Given the description of an element on the screen output the (x, y) to click on. 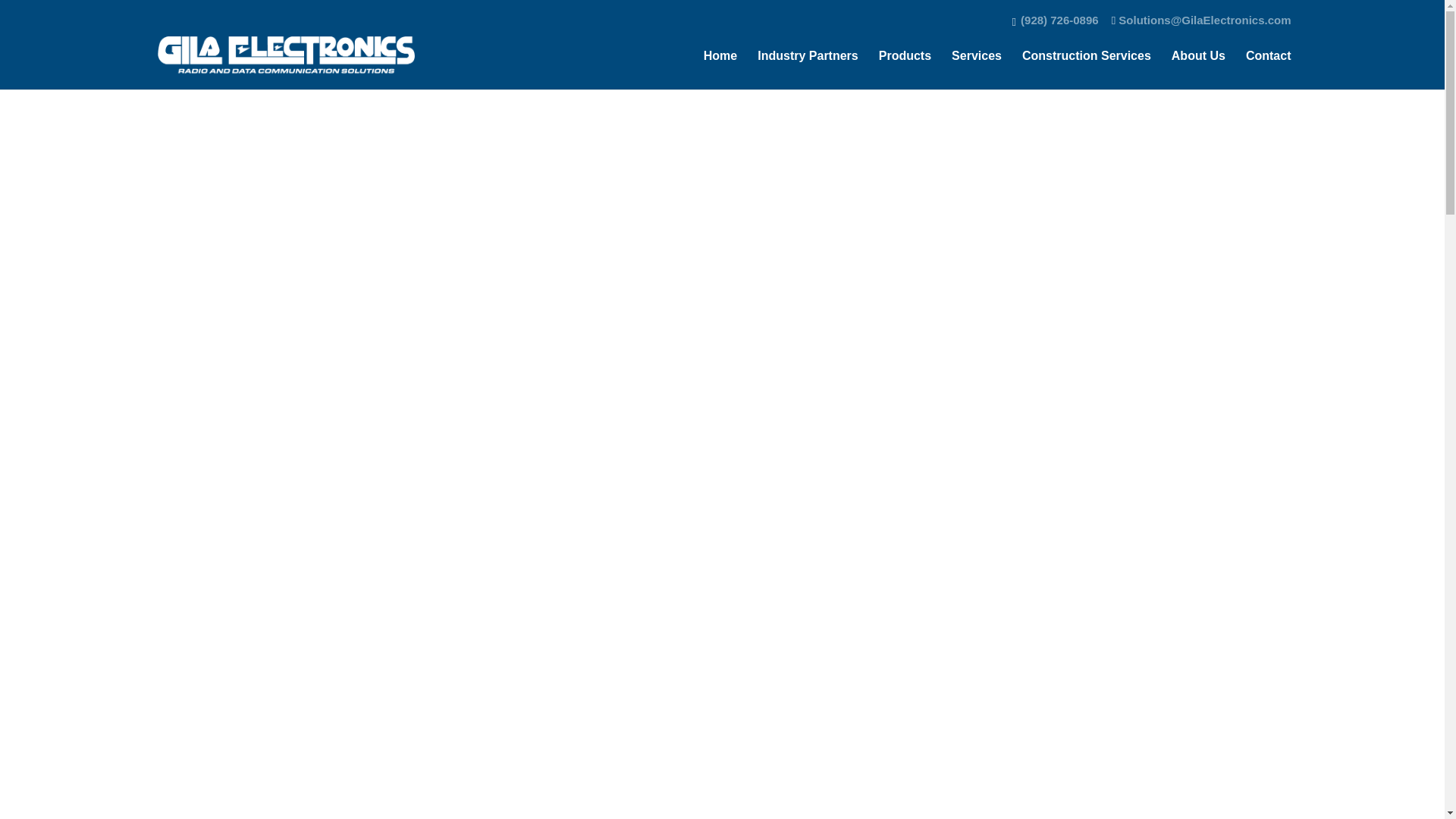
Industry Partners (807, 69)
Contact (1268, 69)
Construction Services (1086, 69)
Products (905, 69)
Services (976, 69)
About Us (1198, 69)
